Given the description of an element on the screen output the (x, y) to click on. 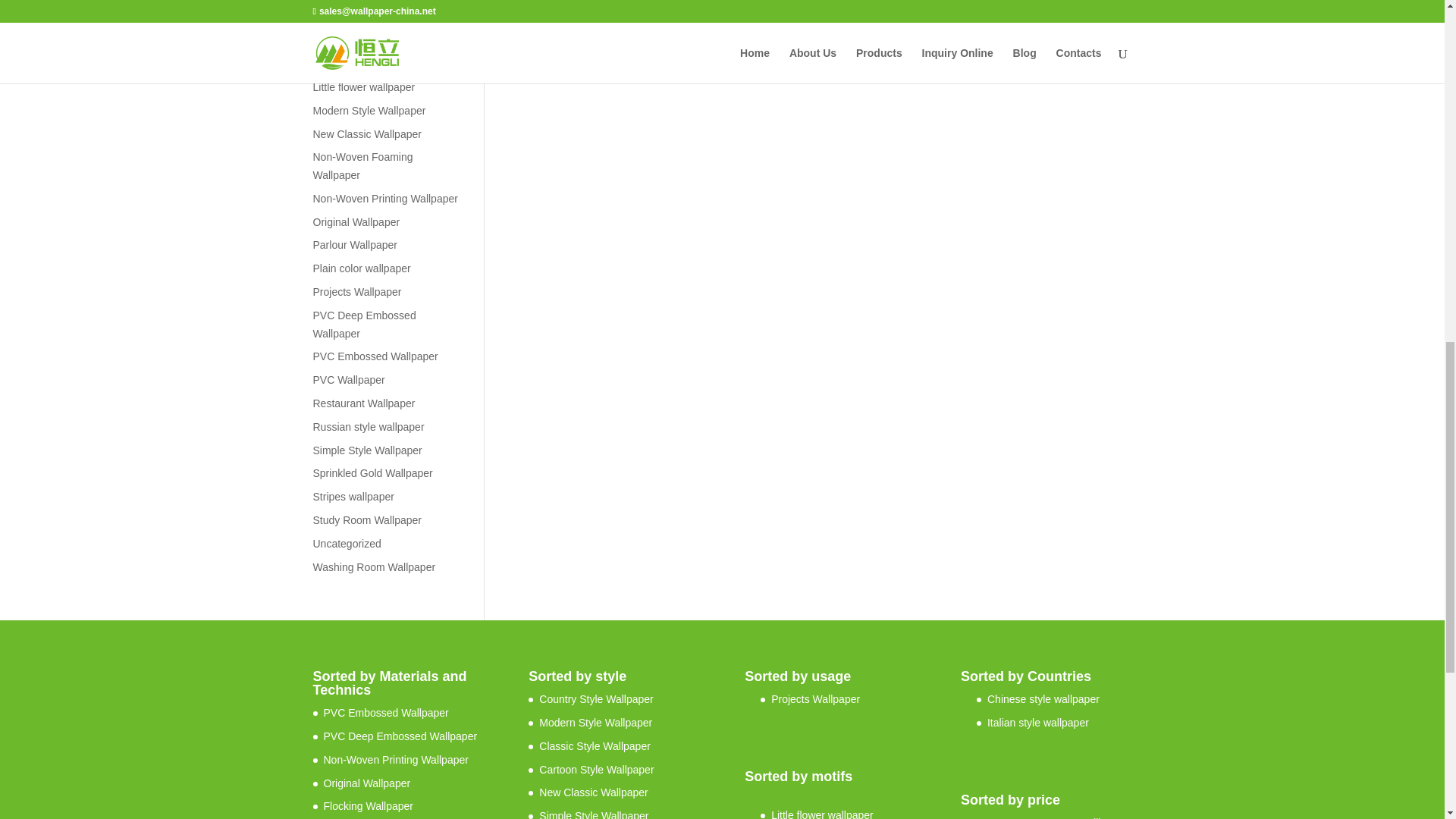
Kitchen Wallpaper (355, 39)
Kids Room Wallpaper (363, 17)
